Given the description of an element on the screen output the (x, y) to click on. 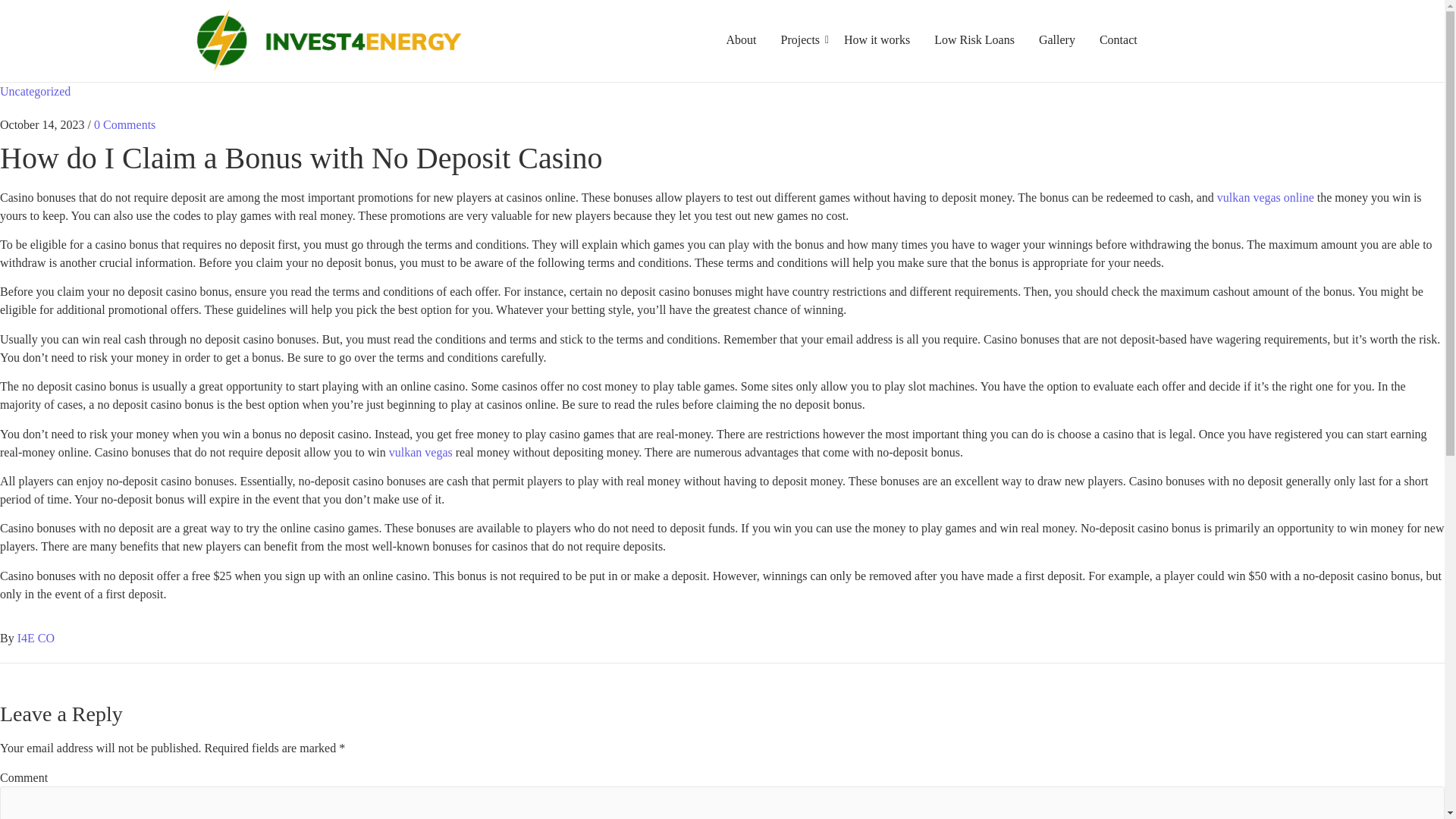
Gallery (1056, 40)
vulkan vegas (420, 451)
How it works (877, 40)
Projects (800, 40)
Low Risk Loans (973, 40)
vulkan vegas online (1265, 196)
0 Comments (124, 124)
About (741, 40)
I4E CO (36, 637)
Posts by I4E CO (36, 637)
Contact (1118, 40)
Uncategorized (34, 91)
